Given the description of an element on the screen output the (x, y) to click on. 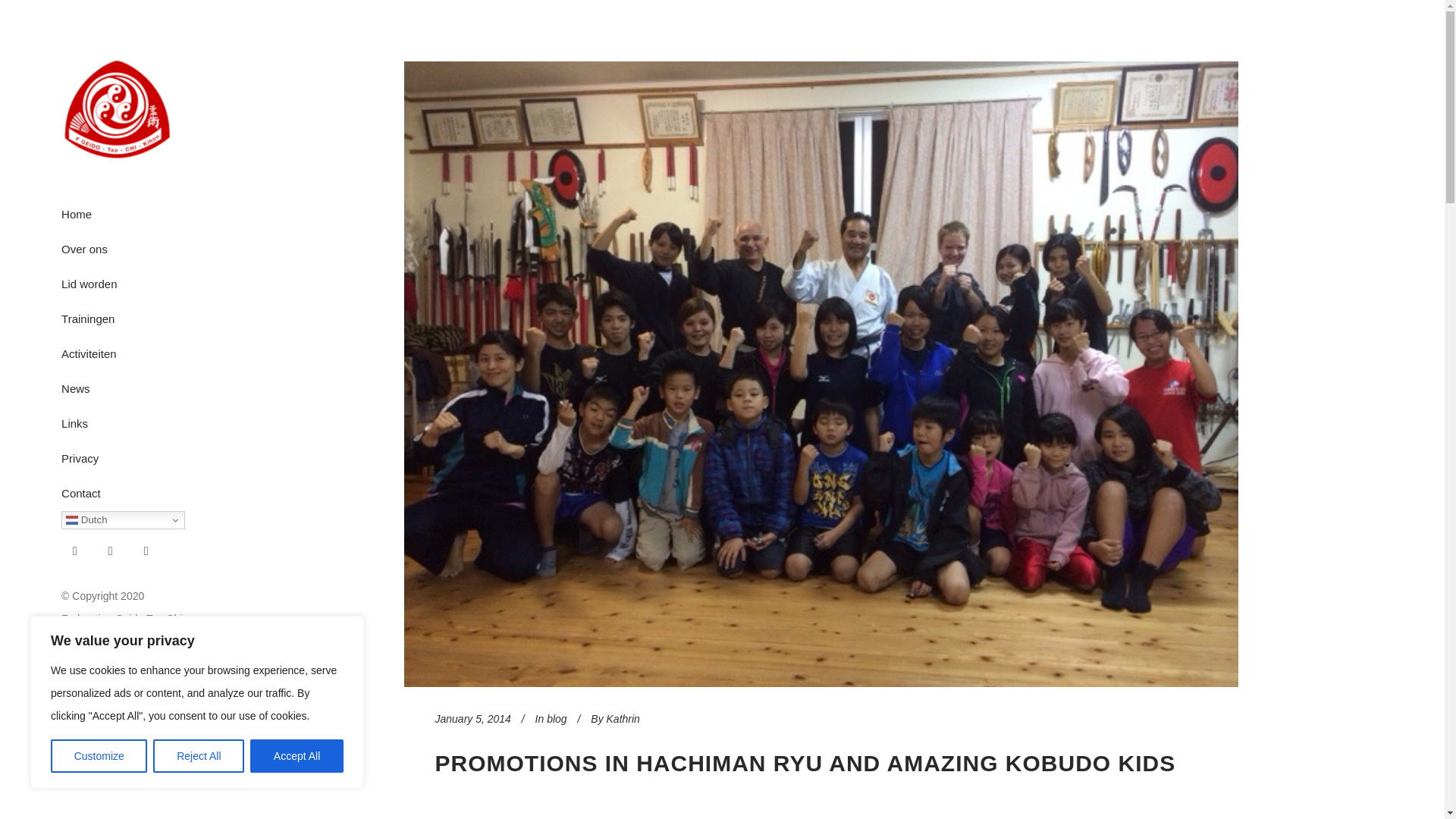
Reject All (198, 756)
Contact (136, 493)
Over ons (136, 248)
Activiteiten (136, 353)
Customize (98, 756)
Trainingen (136, 319)
Lid worden (136, 284)
Accept All (296, 756)
Home (136, 214)
Privacy (136, 458)
Dutch (122, 520)
Links (136, 423)
News (136, 388)
